Given the description of an element on the screen output the (x, y) to click on. 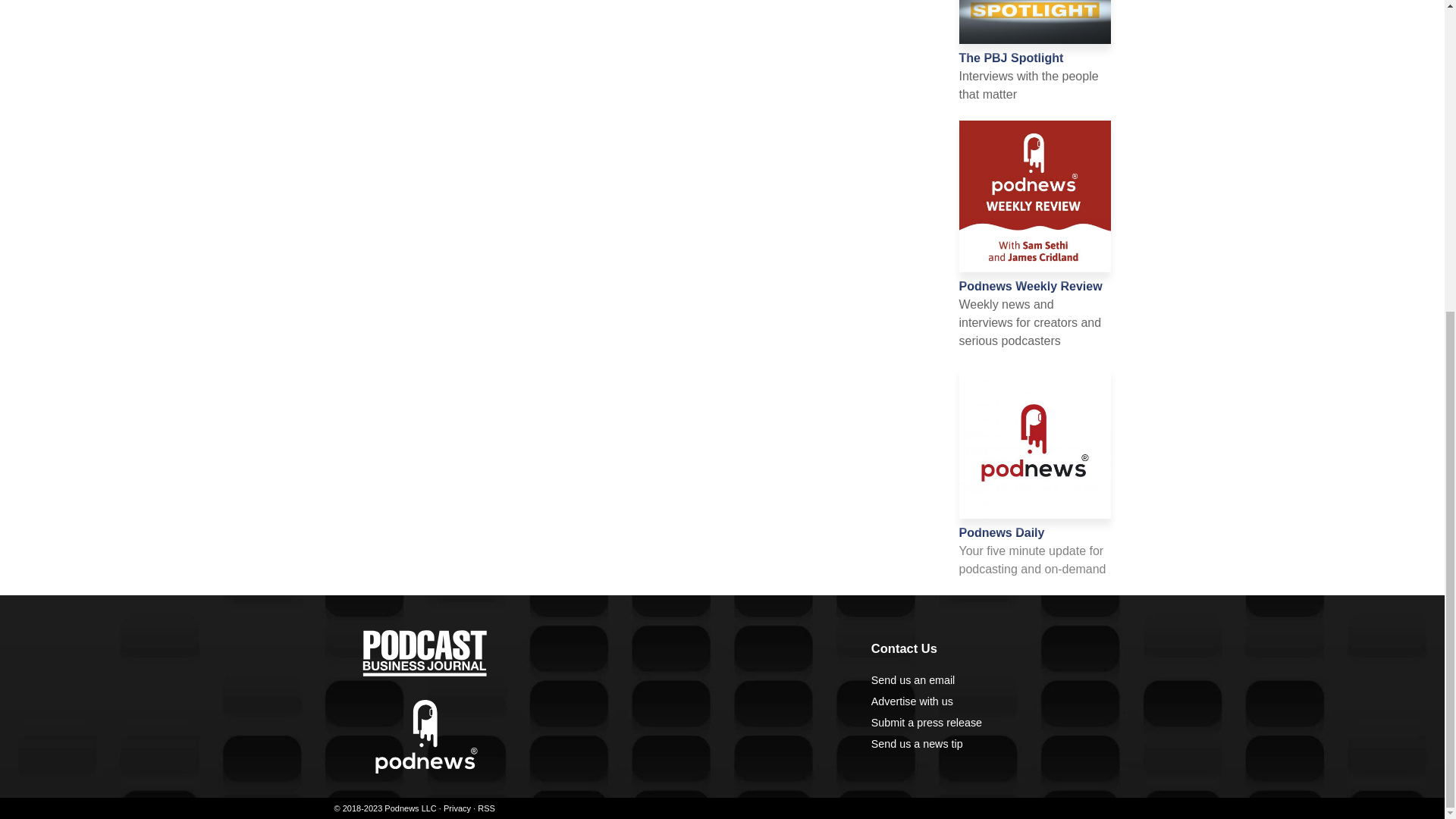
Send us a news tip (916, 743)
Submit a press release (925, 722)
Podnews Daily (1000, 532)
Podnews Weekly Review (1030, 286)
The PBJ Spotlight (1010, 57)
RSS (486, 808)
Advertise with us (911, 701)
Privacy (457, 808)
Send us an email (912, 680)
